Given the description of an element on the screen output the (x, y) to click on. 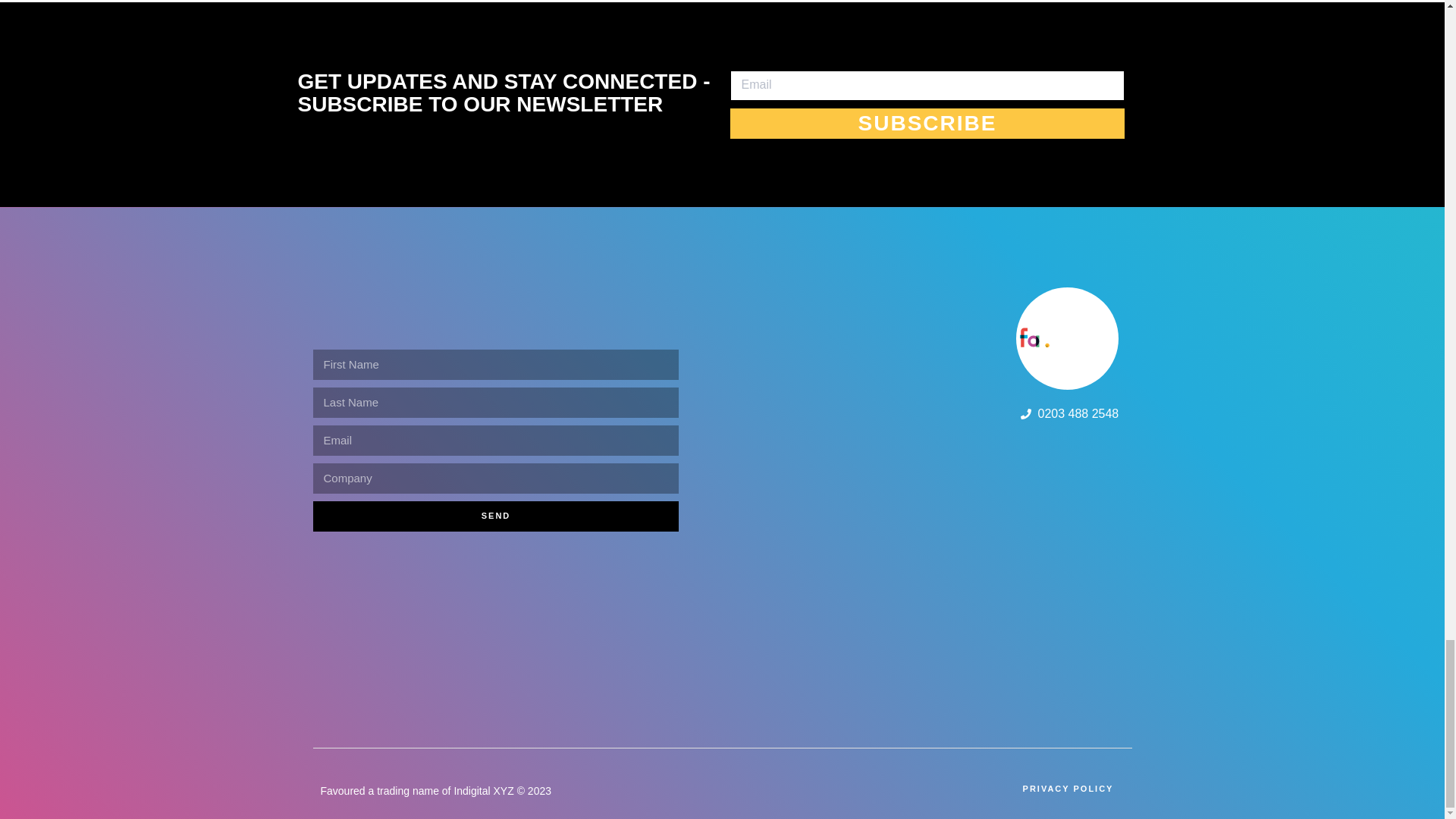
PRIVACY POLICY (1068, 788)
SEND (495, 516)
SUBSCRIBE (926, 123)
